Given the description of an element on the screen output the (x, y) to click on. 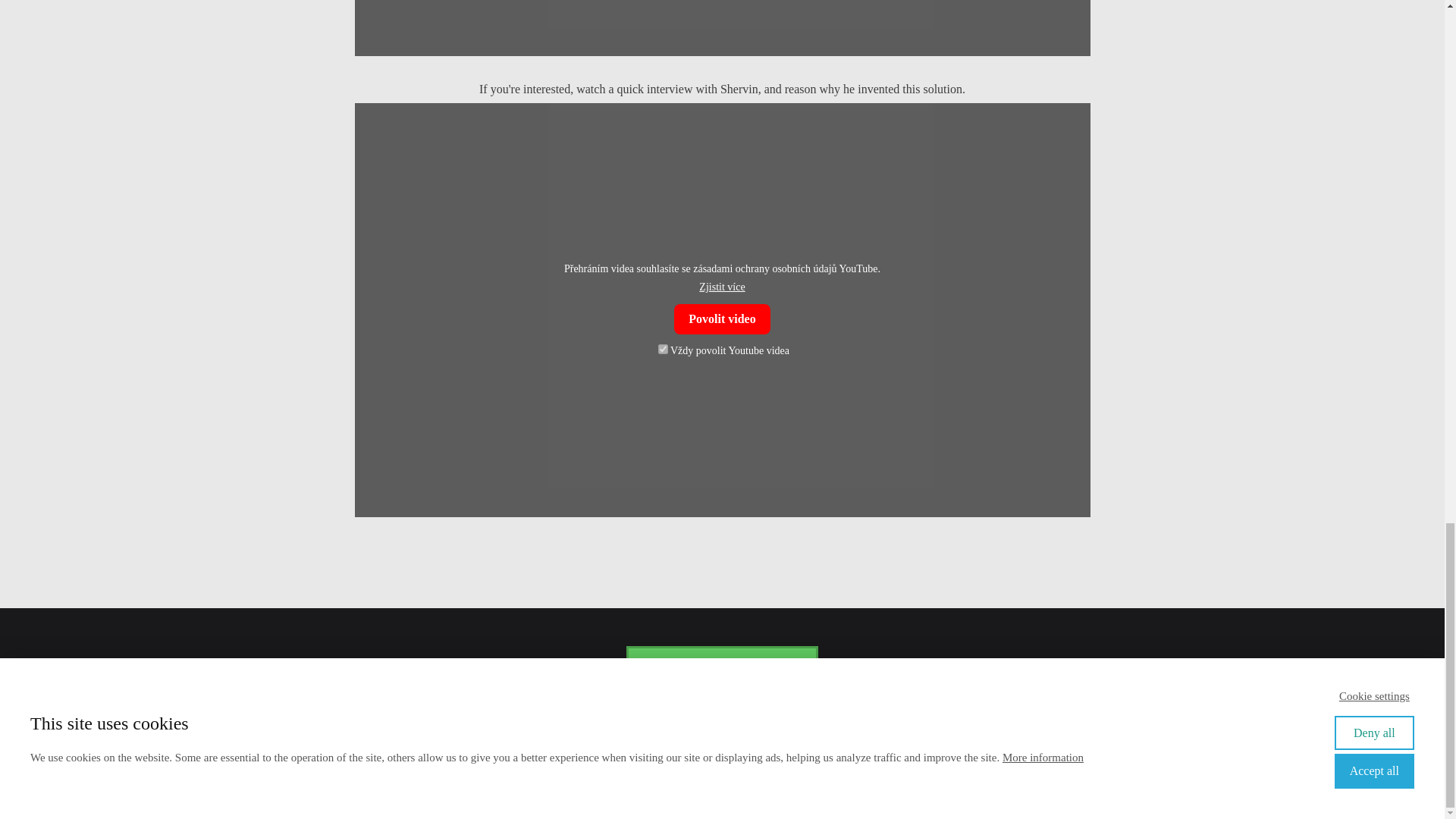
BUY NOW (722, 669)
on (663, 348)
Earnings Disclaimer (659, 770)
Terms and Conditions (848, 770)
Povolit video (722, 318)
Refund Policy (752, 770)
